Given the description of an element on the screen output the (x, y) to click on. 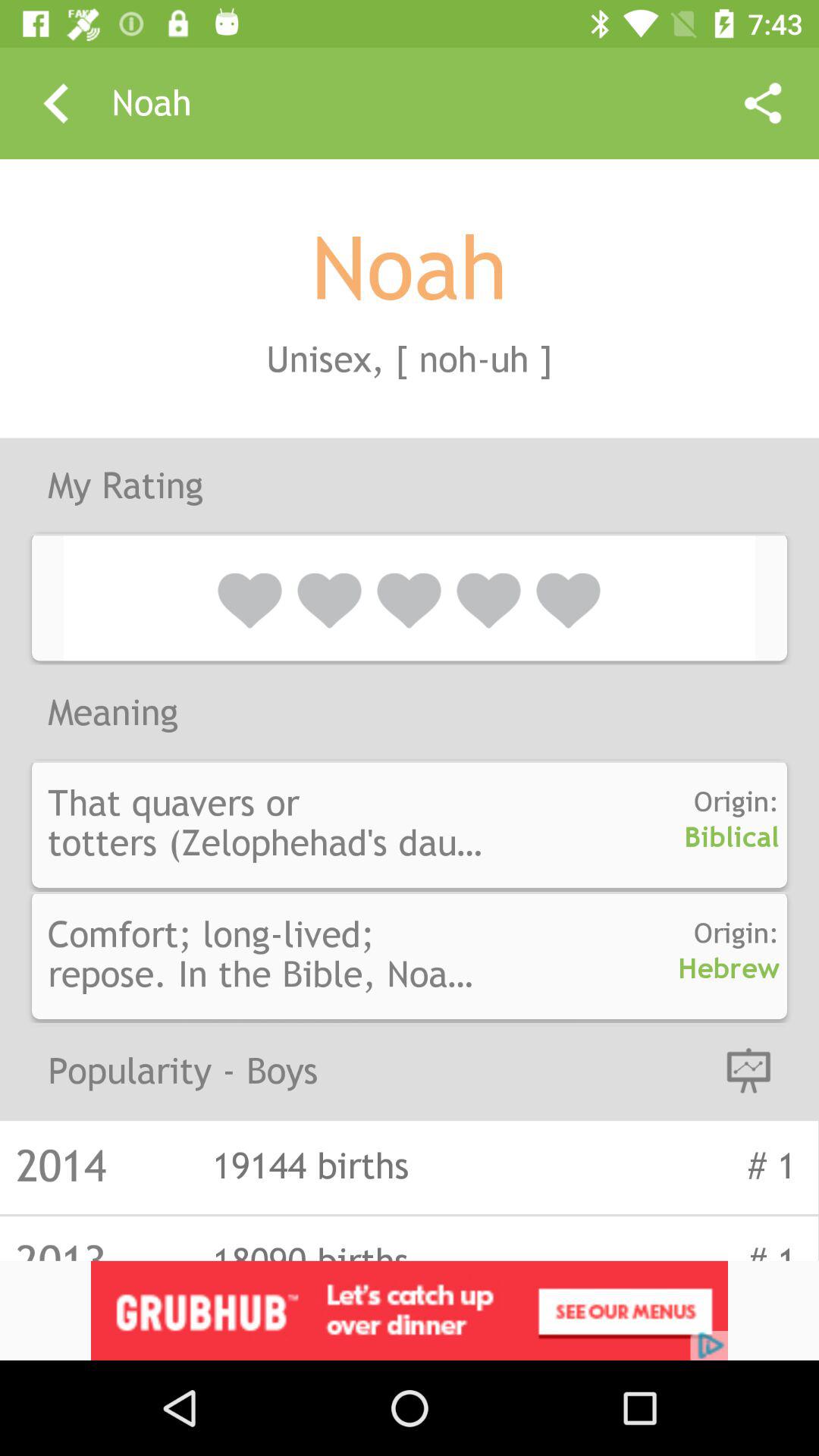
select the button which is below my rating on page (409, 597)
